Given the description of an element on the screen output the (x, y) to click on. 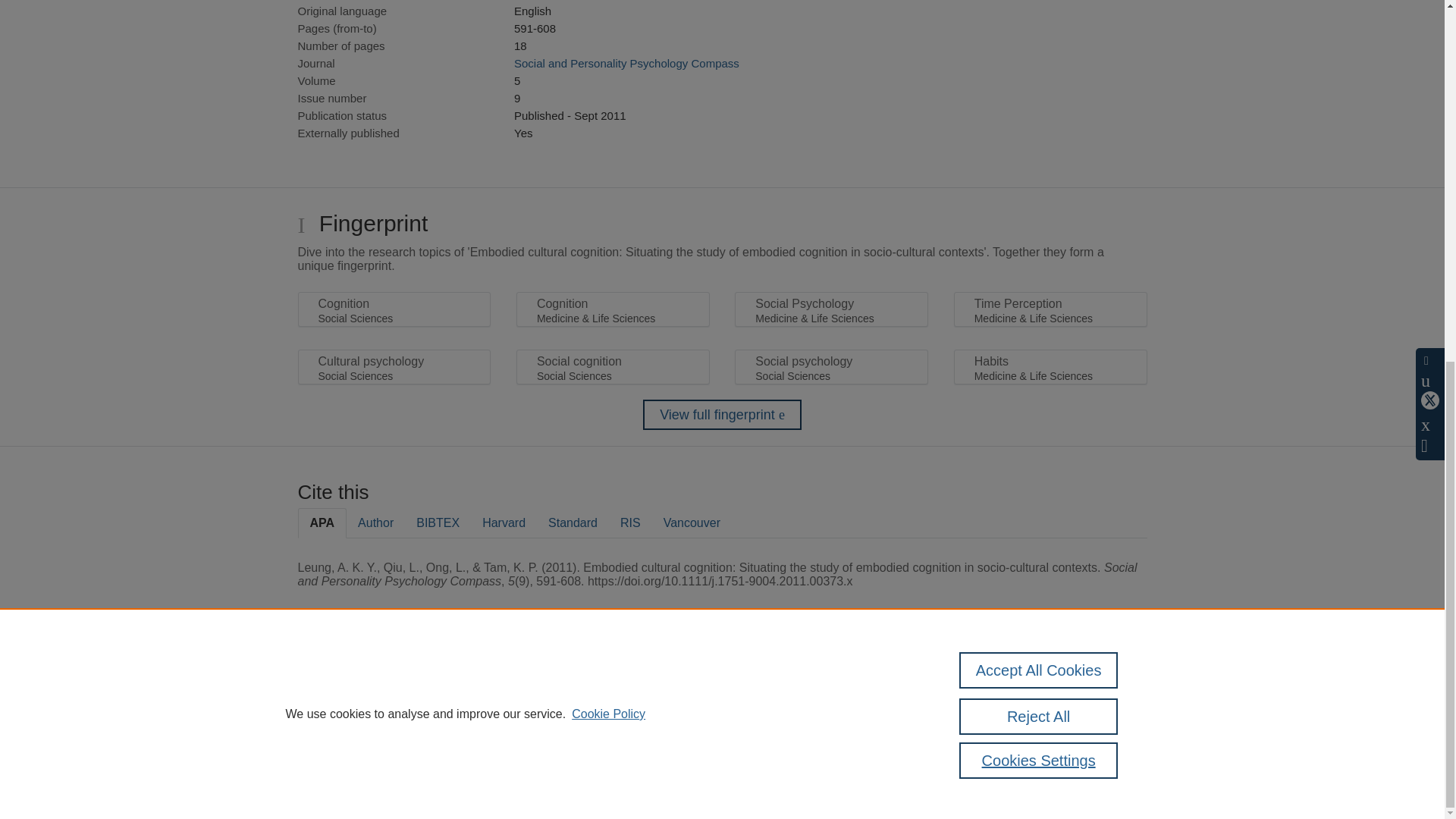
View full fingerprint (722, 414)
Pure (362, 686)
Scopus (394, 686)
Social and Personality Psychology Compass (626, 62)
Elsevier B.V. (506, 707)
